Given the description of an element on the screen output the (x, y) to click on. 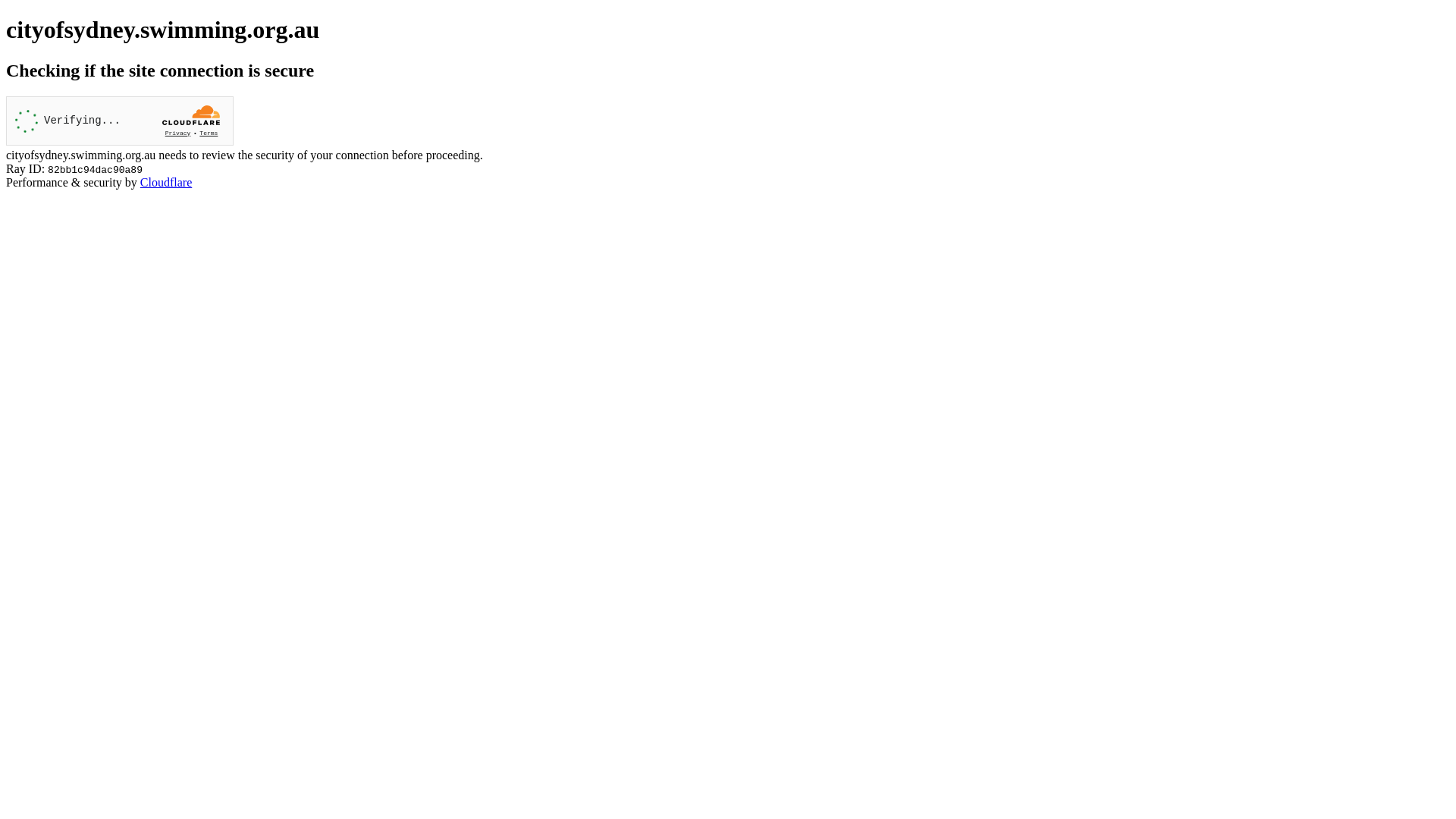
Widget containing a Cloudflare security challenge Element type: hover (119, 120)
Cloudflare Element type: text (165, 181)
